Given the description of an element on the screen output the (x, y) to click on. 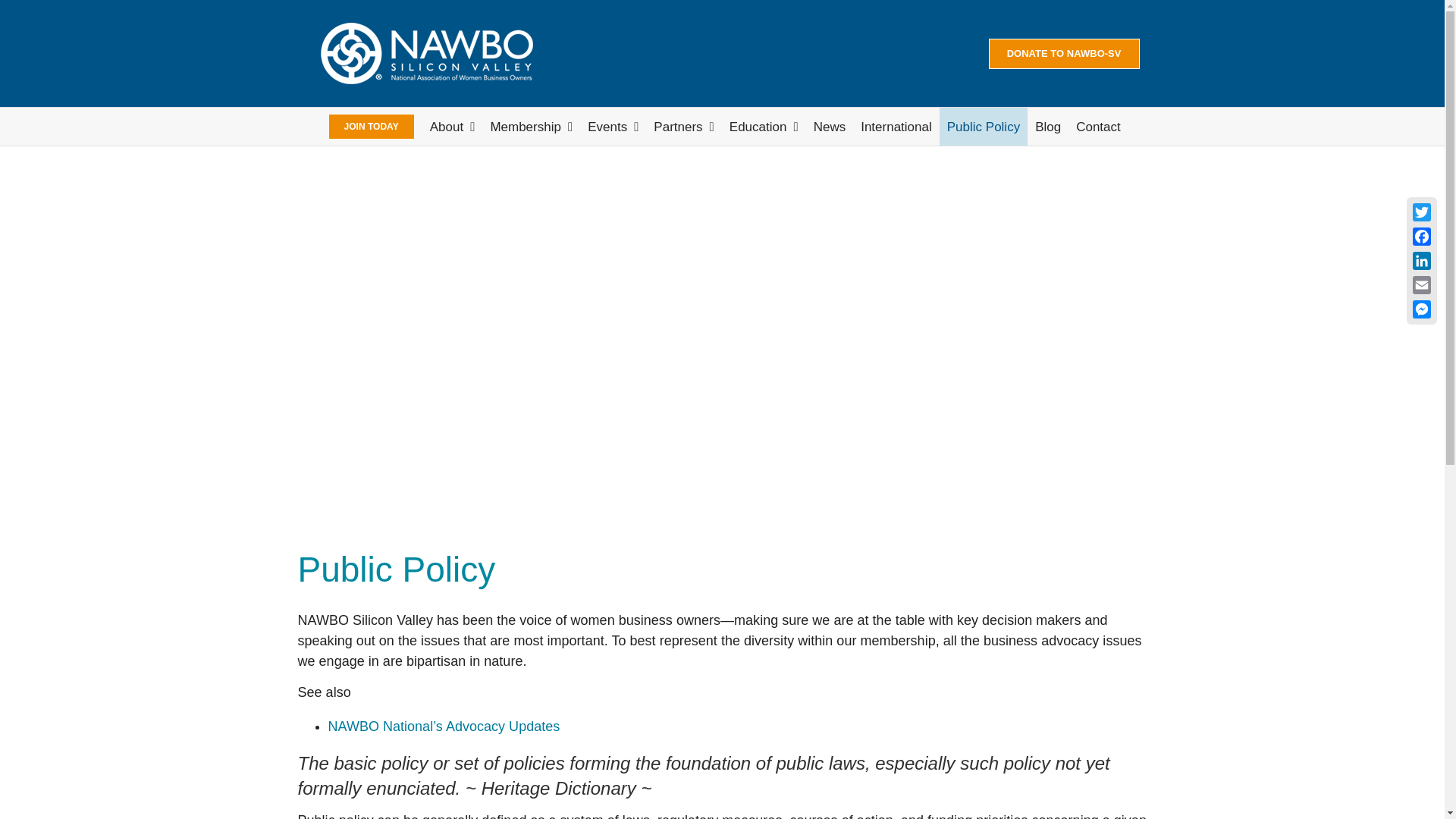
Facebook (1421, 236)
News (829, 126)
Messenger (1421, 309)
Donate Today (1064, 52)
International (896, 126)
Blog (1047, 126)
Events (612, 126)
LinkedIn (1421, 260)
Partners (683, 126)
JOIN TODAY (371, 126)
